Given the description of an element on the screen output the (x, y) to click on. 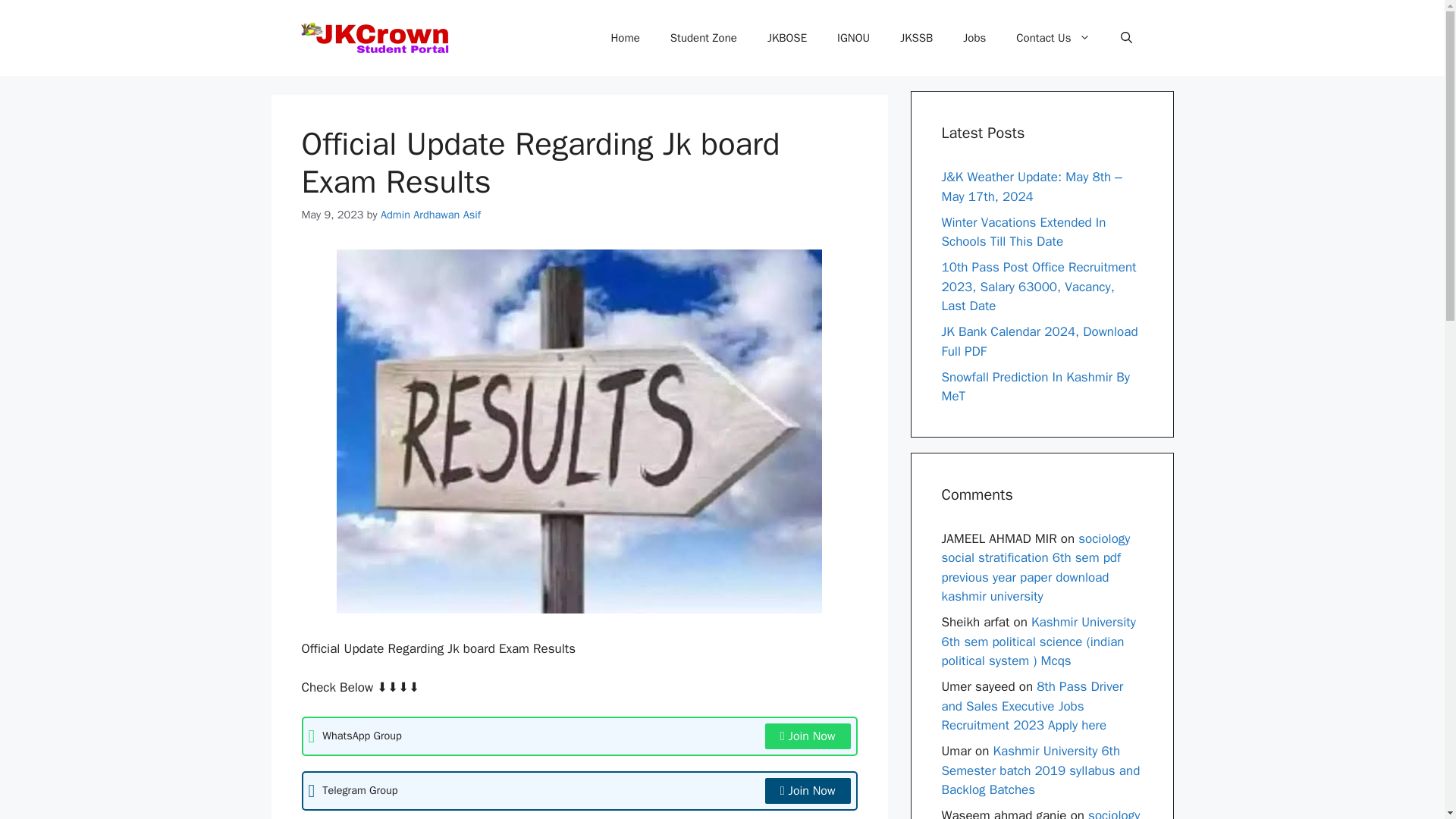
IGNOU (853, 37)
Student Zone (703, 37)
Join Now (807, 790)
Winter Vacations Extended In Schools Till This Date (1024, 231)
Home (624, 37)
Jobs (974, 37)
View all posts by Admin Ardhawan Asif (430, 214)
JKBOSE (787, 37)
JK Bank Calendar 2024, Download Full PDF (1040, 341)
Snowfall Prediction In Kashmir By MeT (1036, 386)
Contact Us (1053, 37)
